Given the description of an element on the screen output the (x, y) to click on. 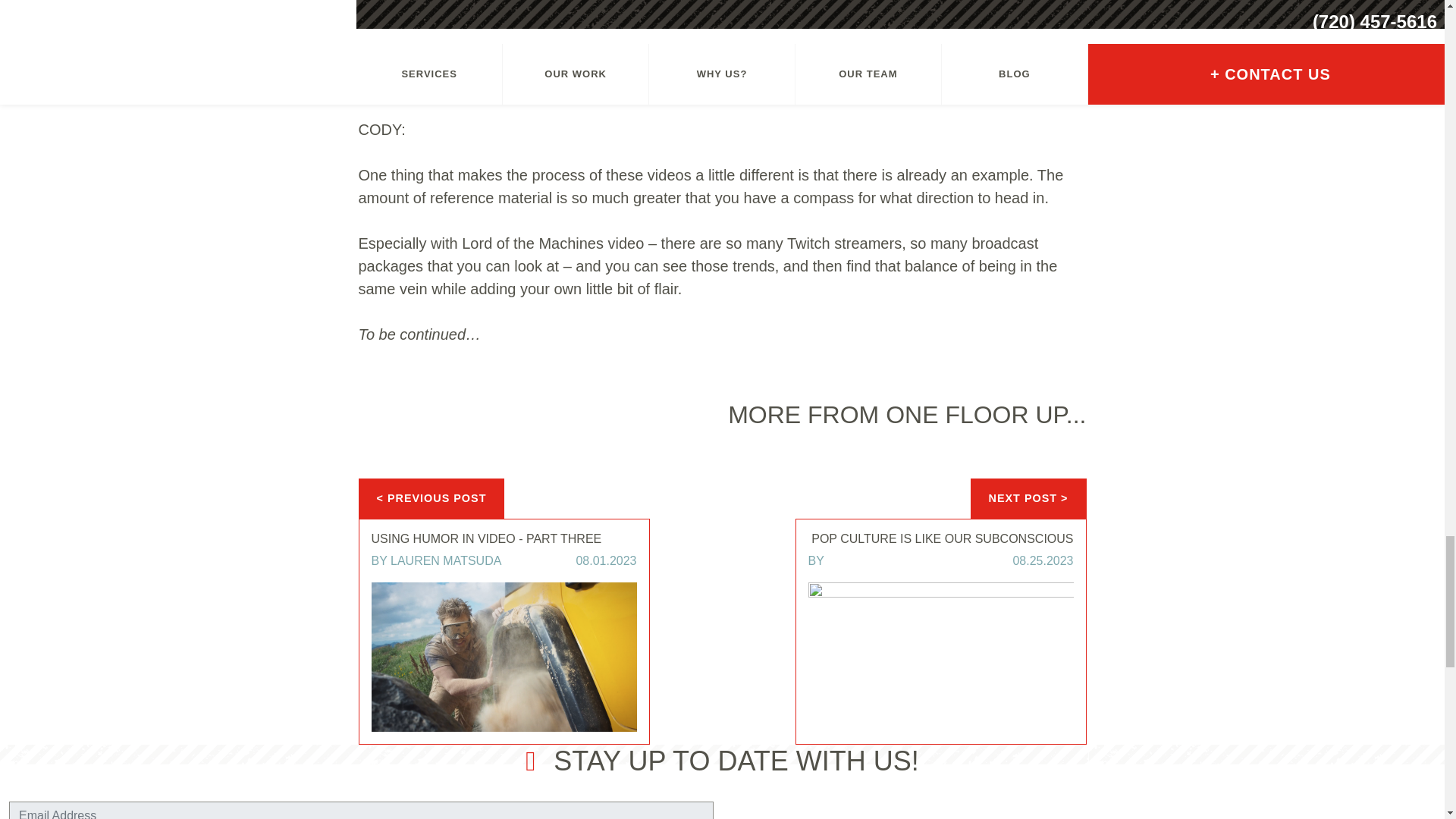
MORE FROM ONE FLOOR UP... (907, 414)
